Given the description of an element on the screen output the (x, y) to click on. 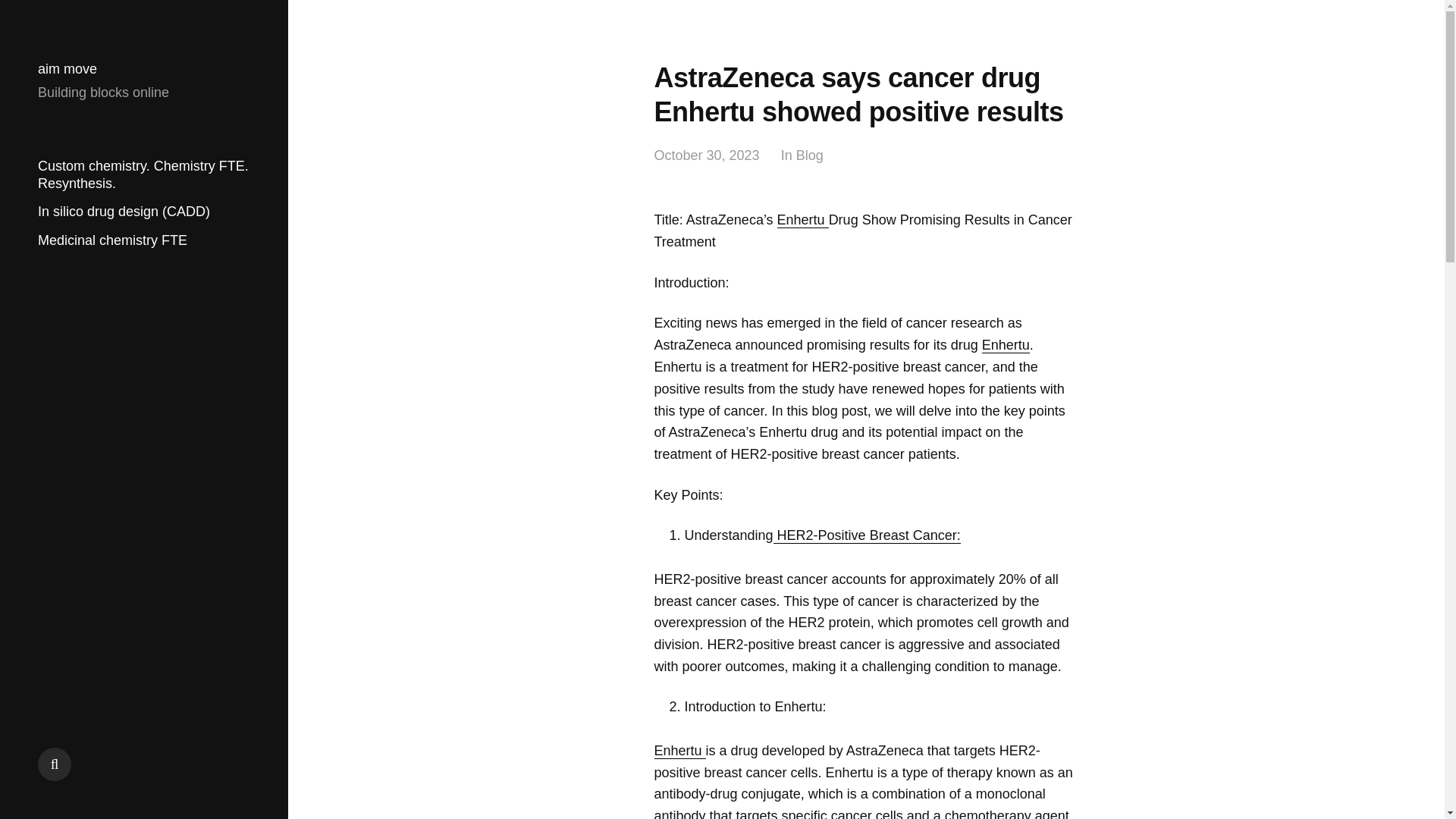
HER2-Positive Breast Cancer: (866, 535)
October 30, 2023 (705, 155)
Enhertu (1005, 344)
Custom chemistry. Chemistry FTE. Resynthesis. (142, 174)
aim move (67, 68)
Enhertu (802, 220)
Blog (810, 155)
Medicinal chemistry FTE (112, 239)
Enhertu (678, 750)
